Given the description of an element on the screen output the (x, y) to click on. 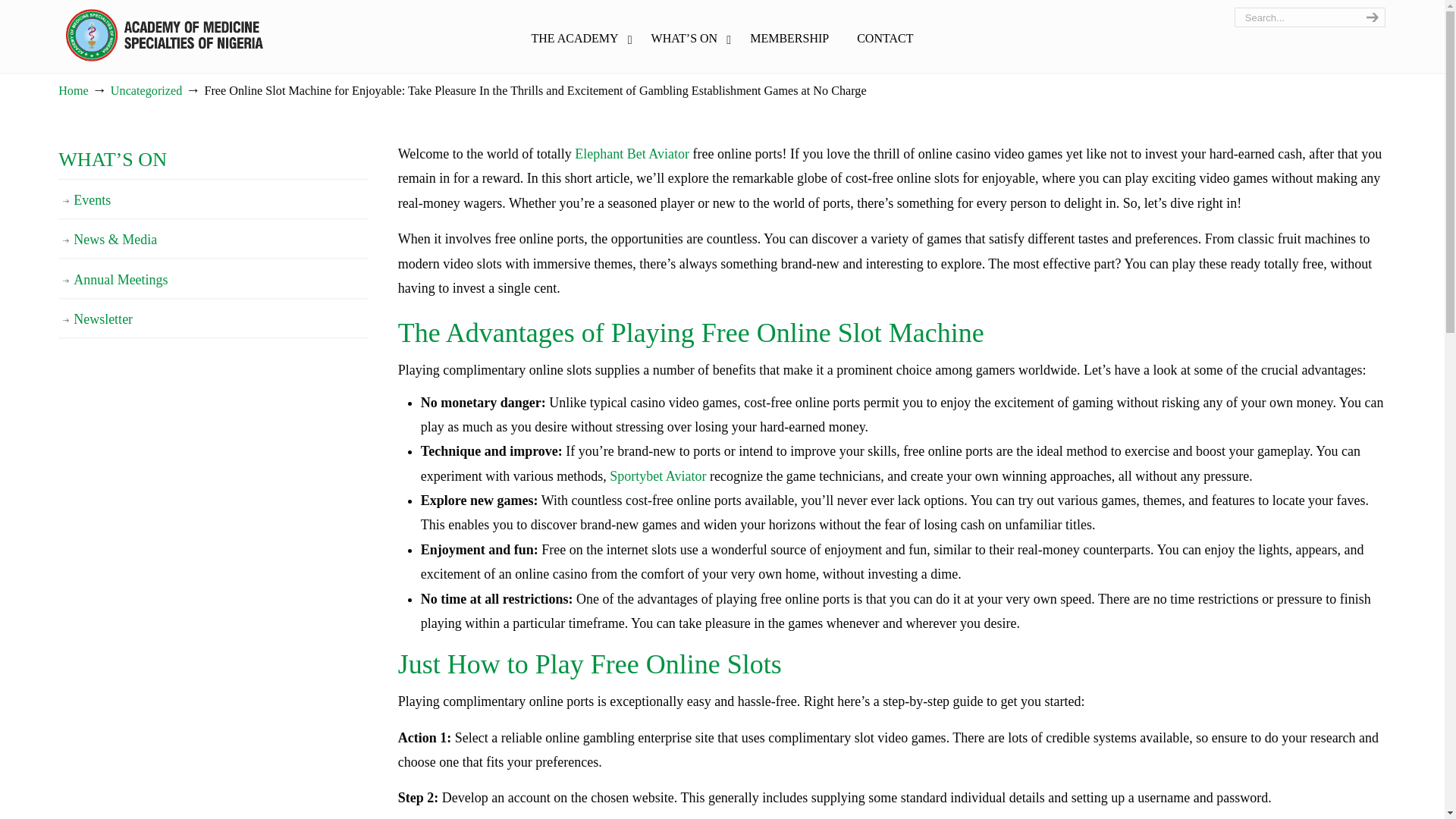
Uncategorized (146, 90)
Academy of Medicine Specialties of Nigeria (163, 35)
Academy of Medicine Specialties of Nigeria (163, 35)
Newsletter (213, 319)
Events (213, 200)
Home (73, 90)
Elephant Bet Aviator (631, 153)
Sportybet Aviator (658, 476)
search (1370, 17)
Annual Meetings (213, 279)
THE ACADEMY (576, 38)
search (1370, 17)
Search... (1294, 17)
MEMBERSHIP (789, 38)
search (1370, 17)
